Given the description of an element on the screen output the (x, y) to click on. 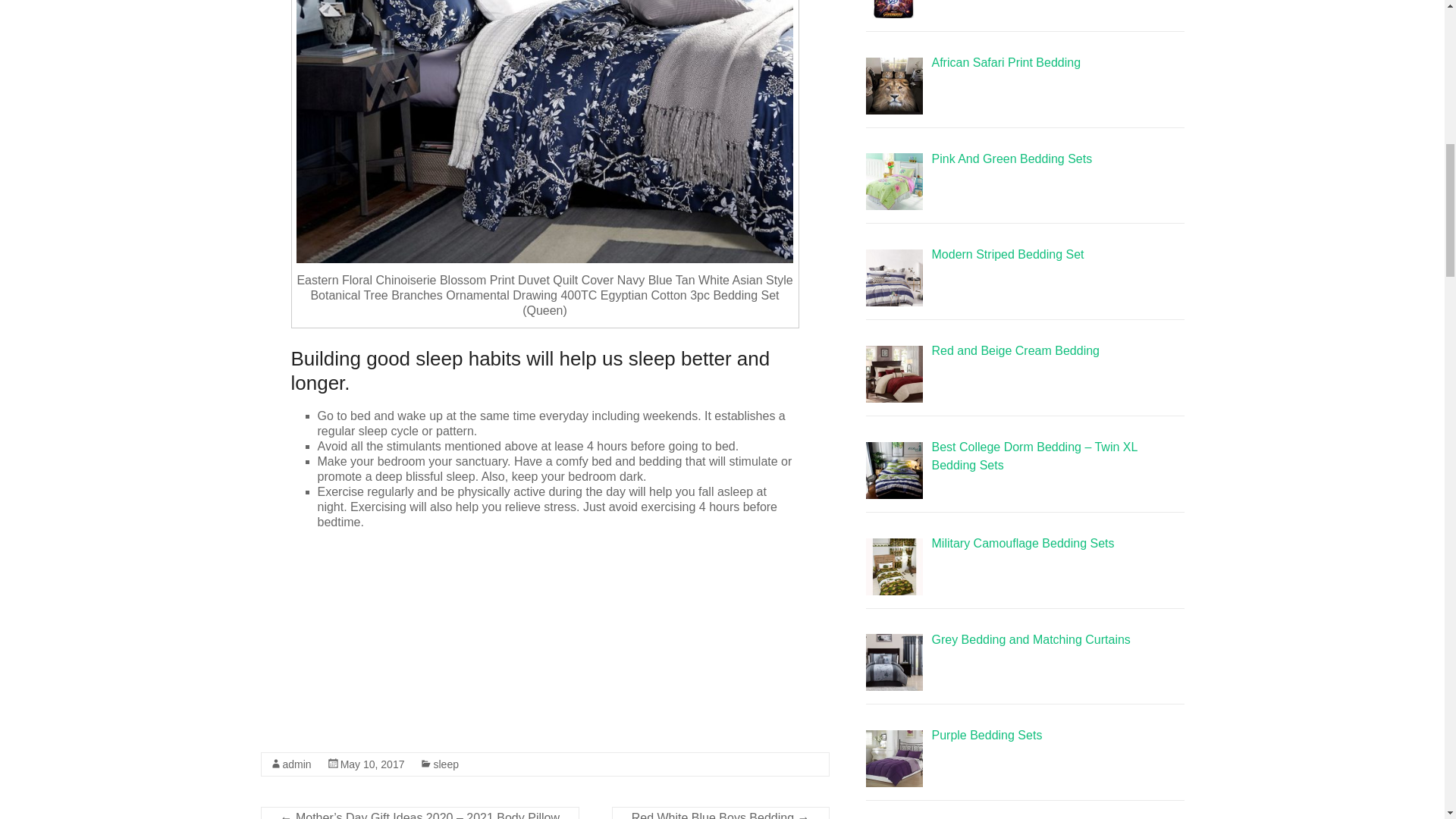
Pink And Green Bedding Sets (1011, 158)
Red and Beige Cream Bedding (1015, 350)
8:18 am (372, 764)
Modern Striped Bedding Set (1007, 254)
admin (296, 764)
sleep (445, 764)
African Safari Print Bedding (1005, 62)
Military Camouflage Bedding Sets (1022, 543)
May 10, 2017 (372, 764)
